Given the description of an element on the screen output the (x, y) to click on. 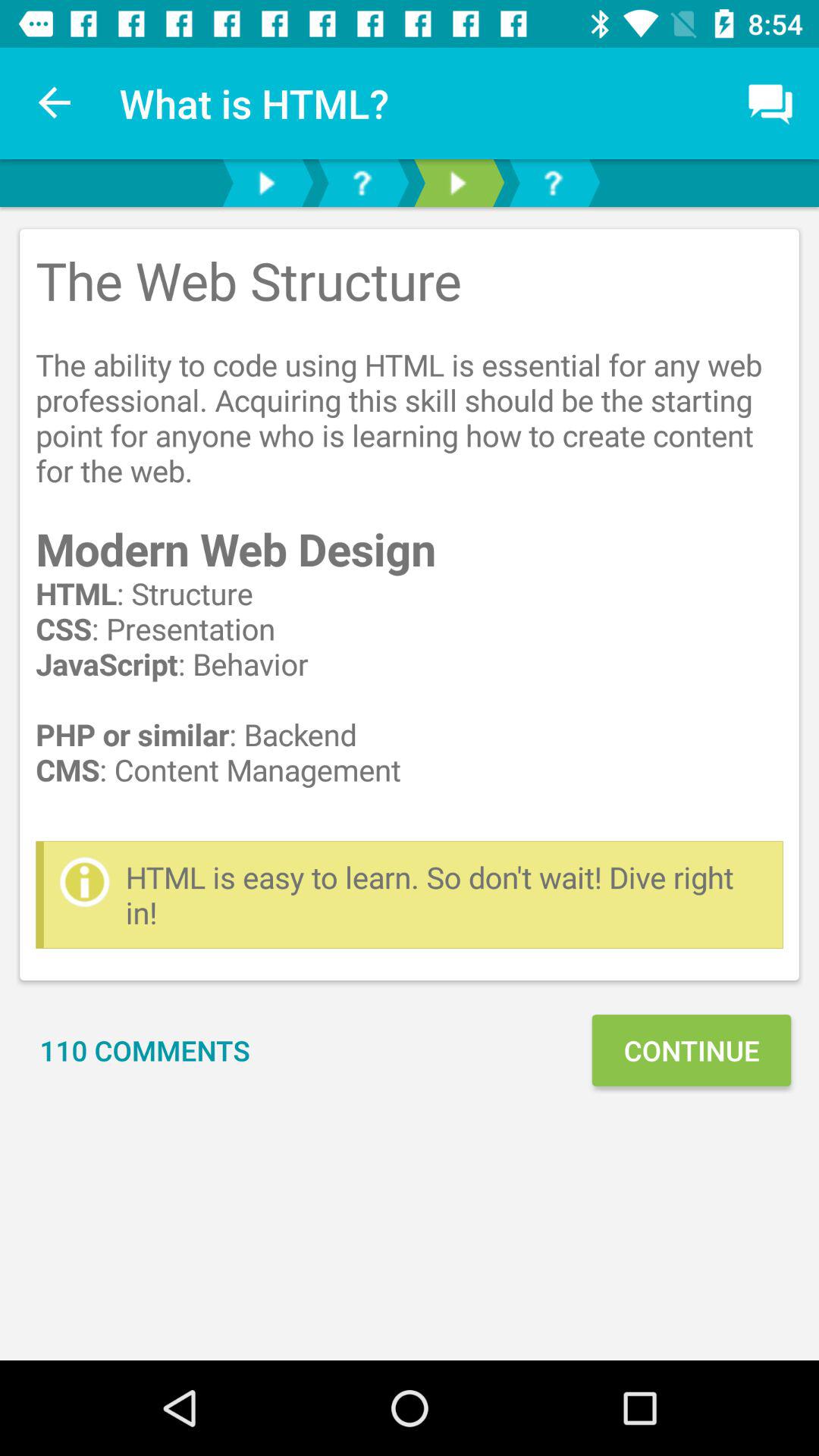
tap the continue icon (691, 1050)
